Given the description of an element on the screen output the (x, y) to click on. 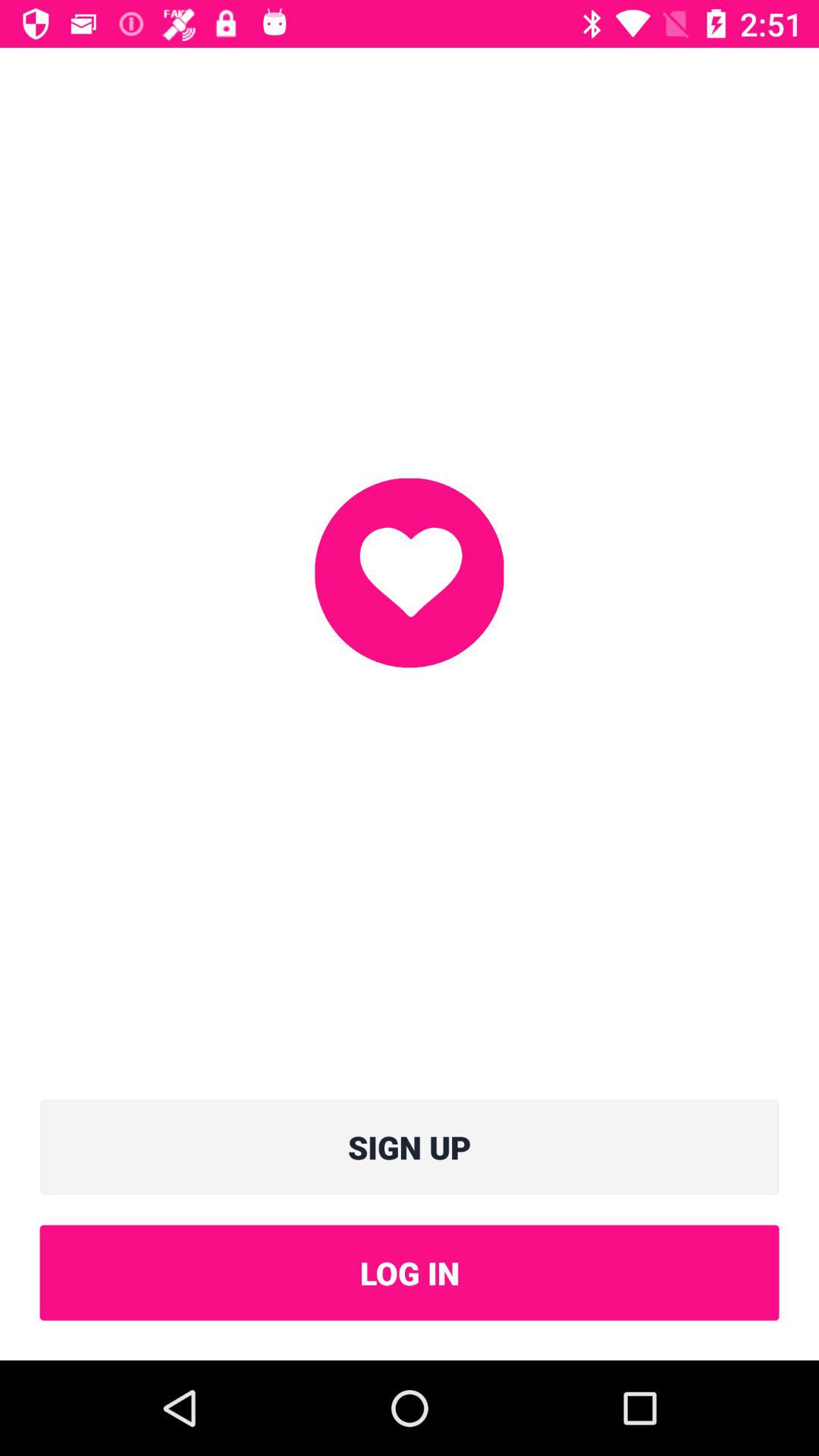
tap log in (409, 1272)
